Given the description of an element on the screen output the (x, y) to click on. 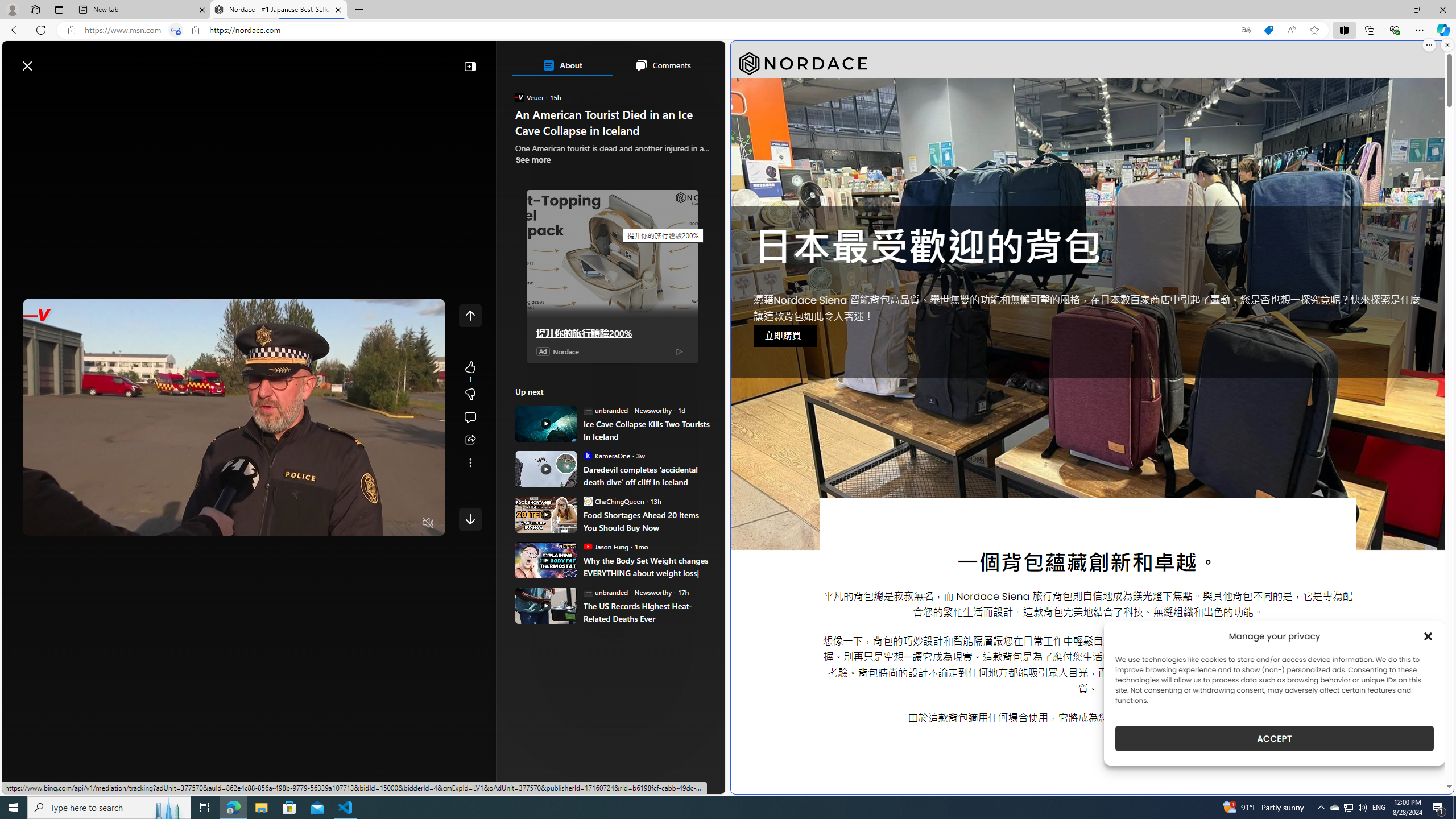
Class: cmplz-close (1428, 636)
Ad Choice (678, 350)
Fullscreen (405, 523)
Comments (662, 64)
Restore (1416, 9)
Following (97, 92)
Workspaces (34, 9)
